Given the description of an element on the screen output the (x, y) to click on. 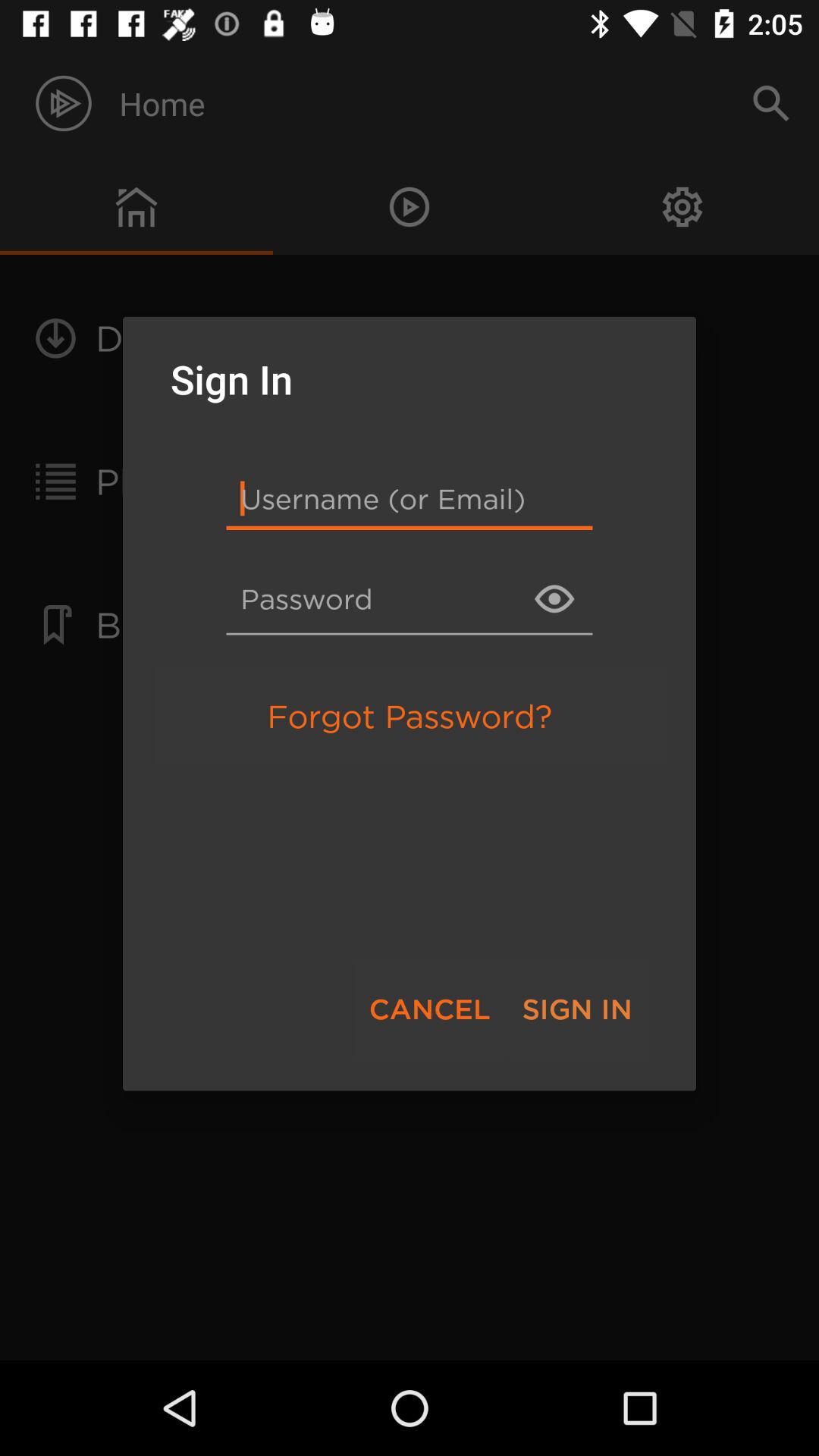
tap the cancel (429, 1009)
